Given the description of an element on the screen output the (x, y) to click on. 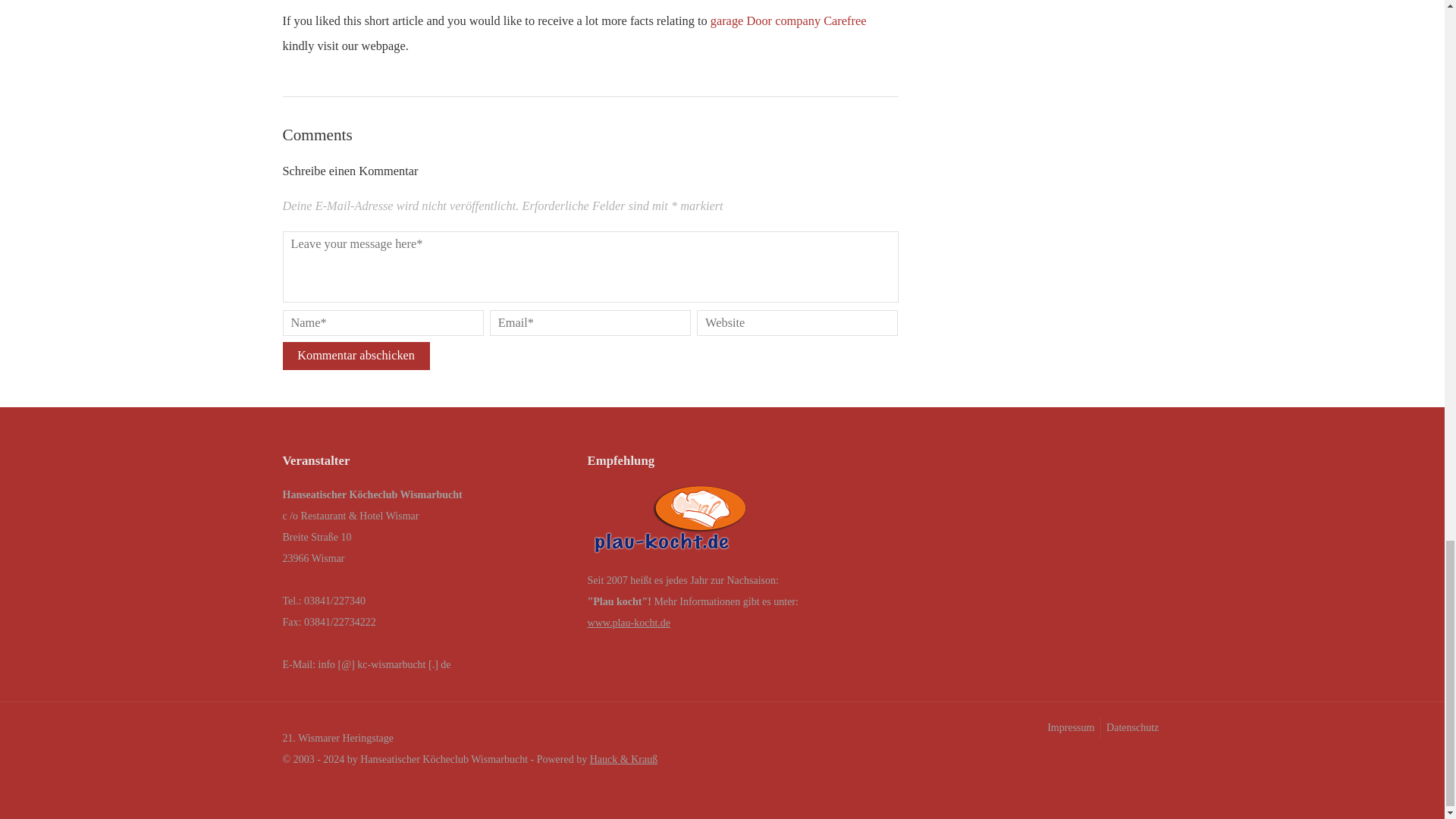
plau-kocht-logo (671, 523)
www.plau-kocht.de (629, 622)
Impressum (1069, 727)
Kommentar abschicken (355, 356)
Kommentar abschicken (355, 356)
Datenschutz (1130, 727)
Facebook (1120, 761)
Twitter (1149, 761)
garage Door company Carefree (788, 20)
